Given the description of an element on the screen output the (x, y) to click on. 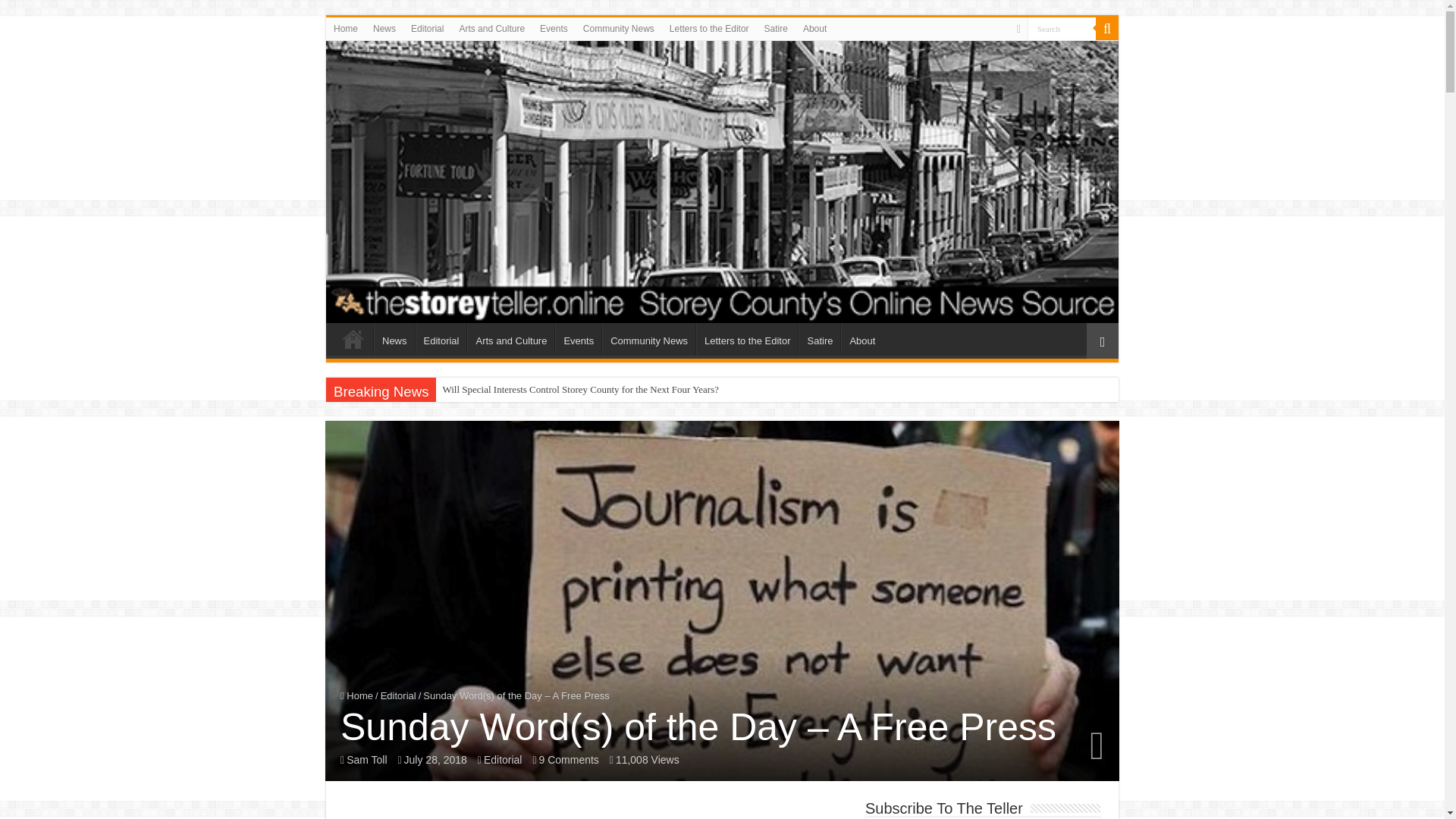
Home (356, 695)
Arts and Culture (491, 28)
Arts and Culture (510, 338)
About (814, 28)
Satire (775, 28)
Sam Toll (366, 759)
Home (345, 28)
Letters to the Editor (709, 28)
